Given the description of an element on the screen output the (x, y) to click on. 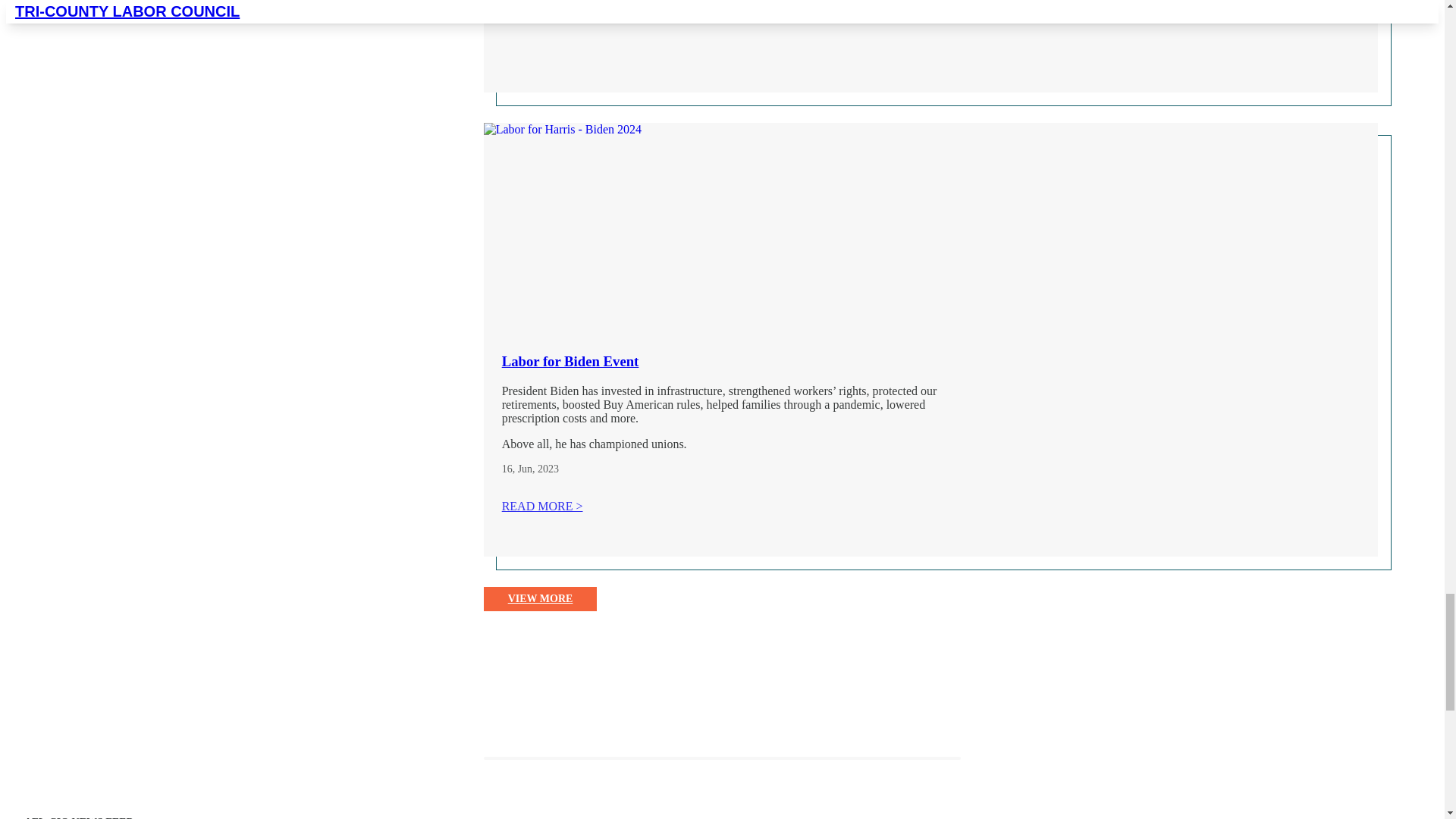
Friday, June 16, 2023 - 13:04 (507, 469)
Friday, June 16, 2023 - 13:04 (538, 469)
